Given the description of an element on the screen output the (x, y) to click on. 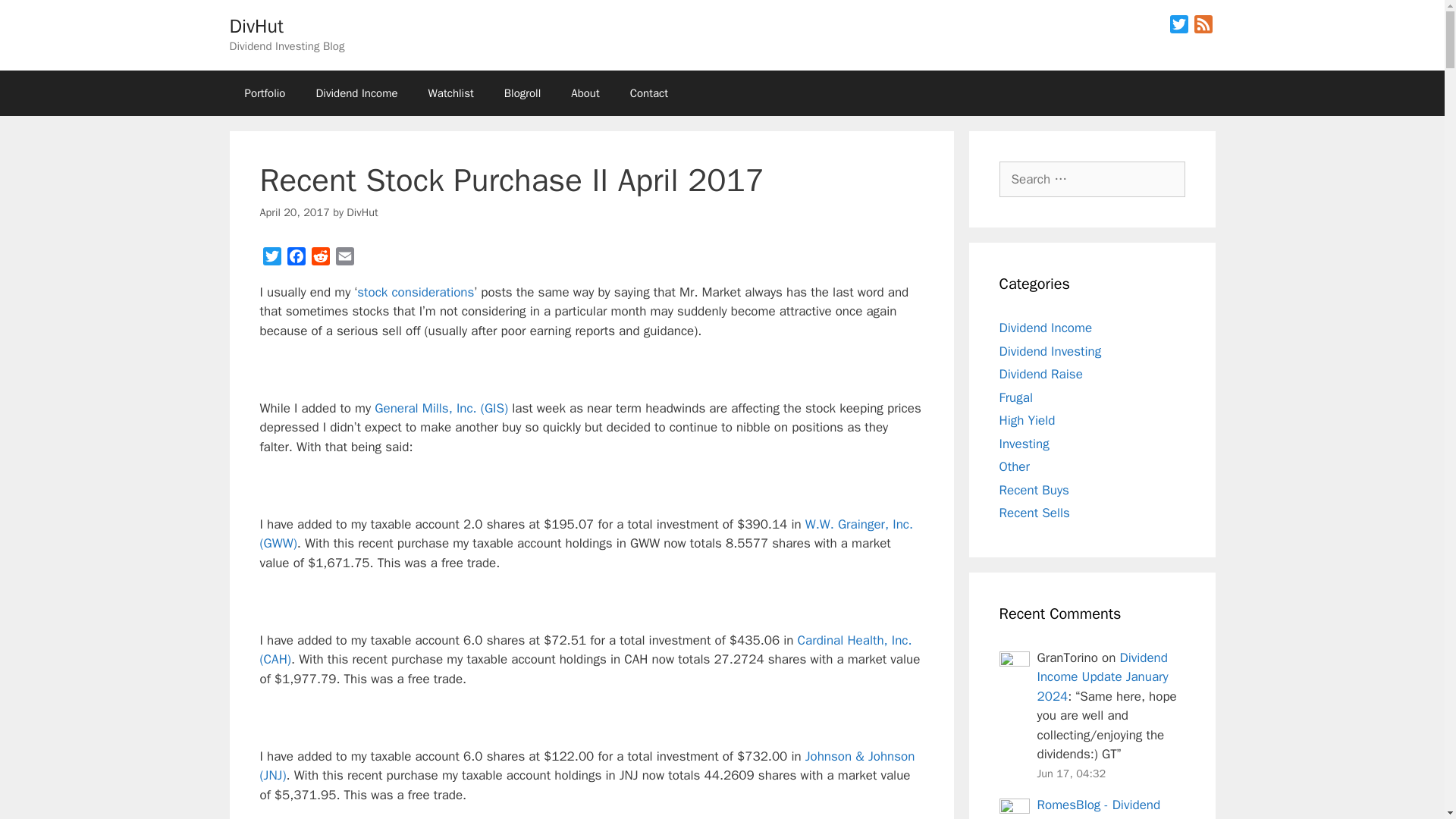
Twitter (1178, 26)
DivHut (255, 25)
Watchlist (451, 92)
Feed (1202, 26)
Portfolio (263, 92)
Twitter (271, 259)
Facebook (295, 259)
DivHut (361, 212)
RSS Feed (1202, 26)
Email (343, 259)
Contact (648, 92)
Reddit (319, 259)
Twitter (271, 259)
Email (343, 259)
Blogroll (522, 92)
